Given the description of an element on the screen output the (x, y) to click on. 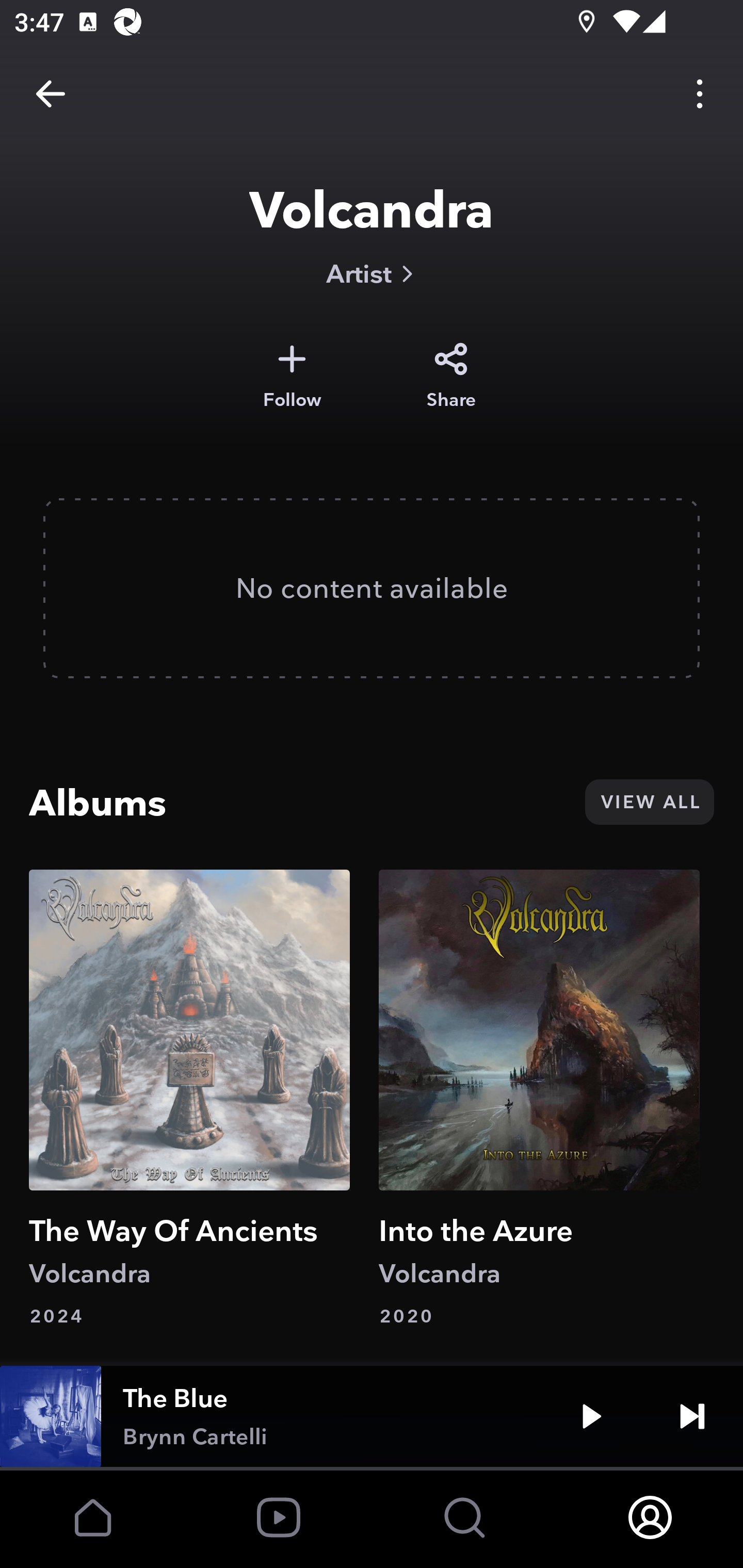
Options (699, 93)
Artist (371, 273)
Follow (291, 375)
Share (450, 375)
VIEW ALL (649, 801)
The Way Of Ancients Volcandra 2024 (188, 1099)
Into the Azure Volcandra 2020 (538, 1099)
The Blue Brynn Cartelli Play (371, 1416)
Play (590, 1416)
